Given the description of an element on the screen output the (x, y) to click on. 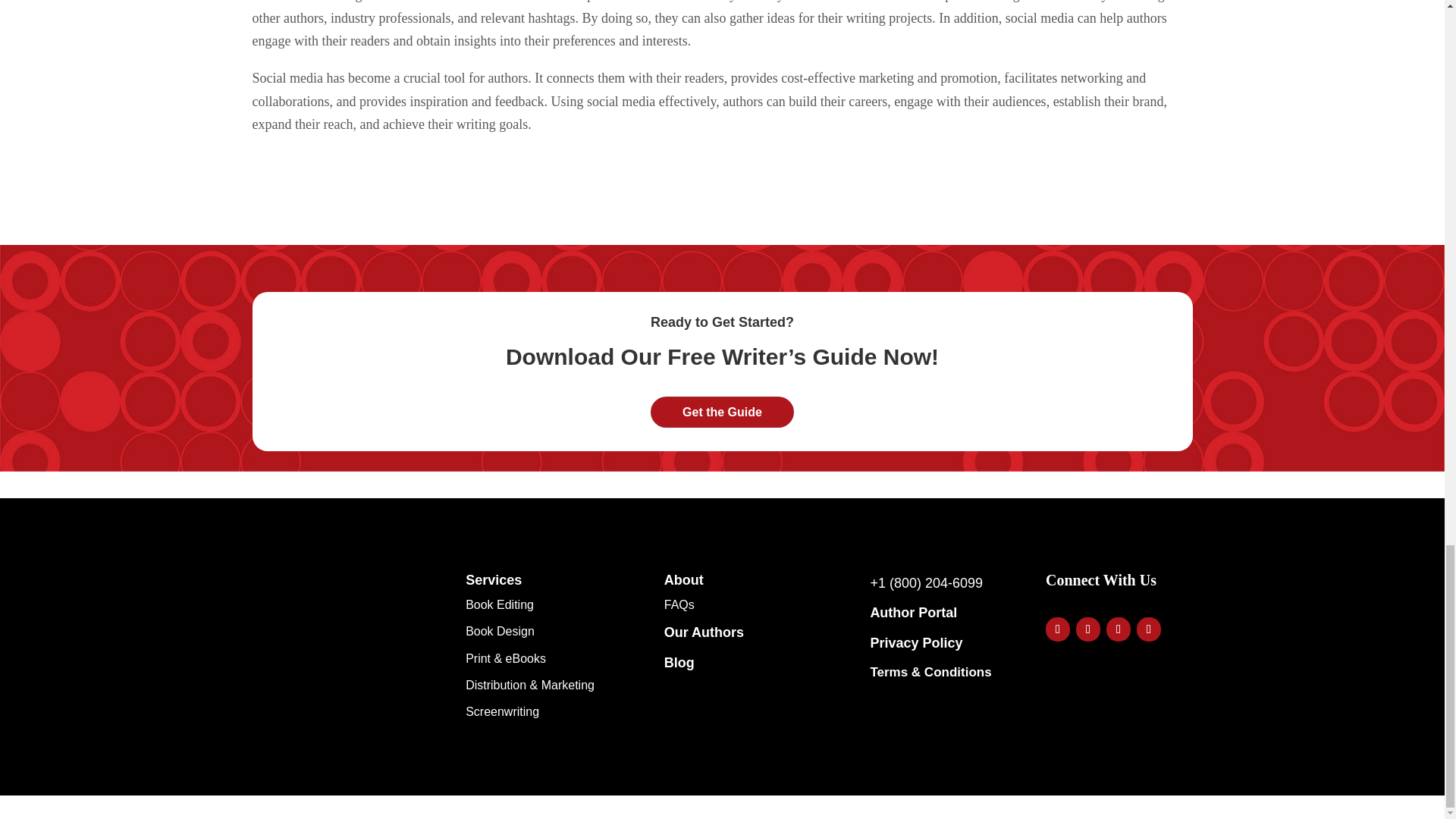
Follow on Twitter (1087, 629)
Follow on Pinterest (1148, 629)
Follow on Youtube (1118, 629)
Follow on Facebook (1057, 629)
